Given the description of an element on the screen output the (x, y) to click on. 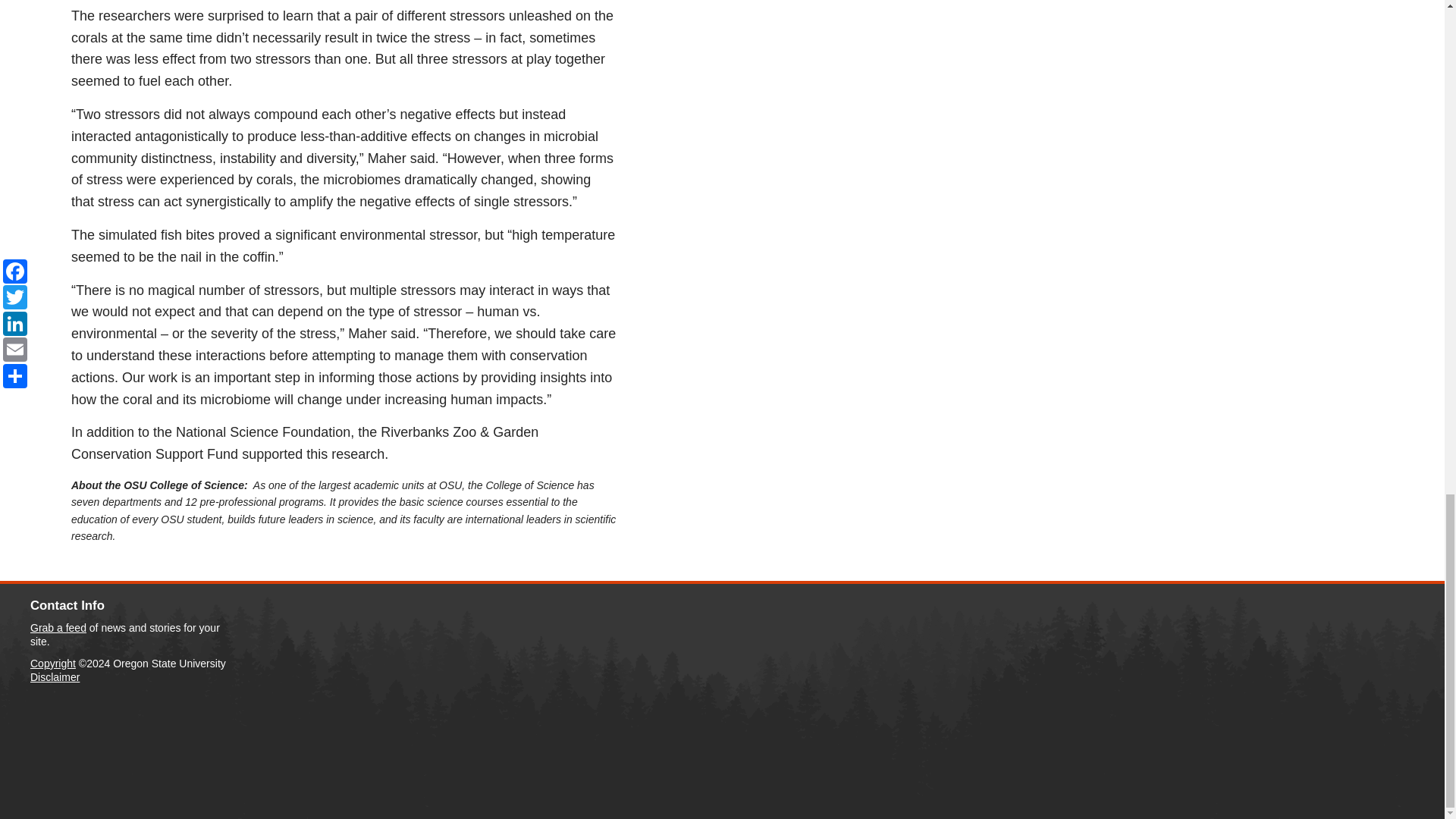
Copyright (52, 663)
Disclaimer (55, 676)
Grab a feed (57, 627)
